Given the description of an element on the screen output the (x, y) to click on. 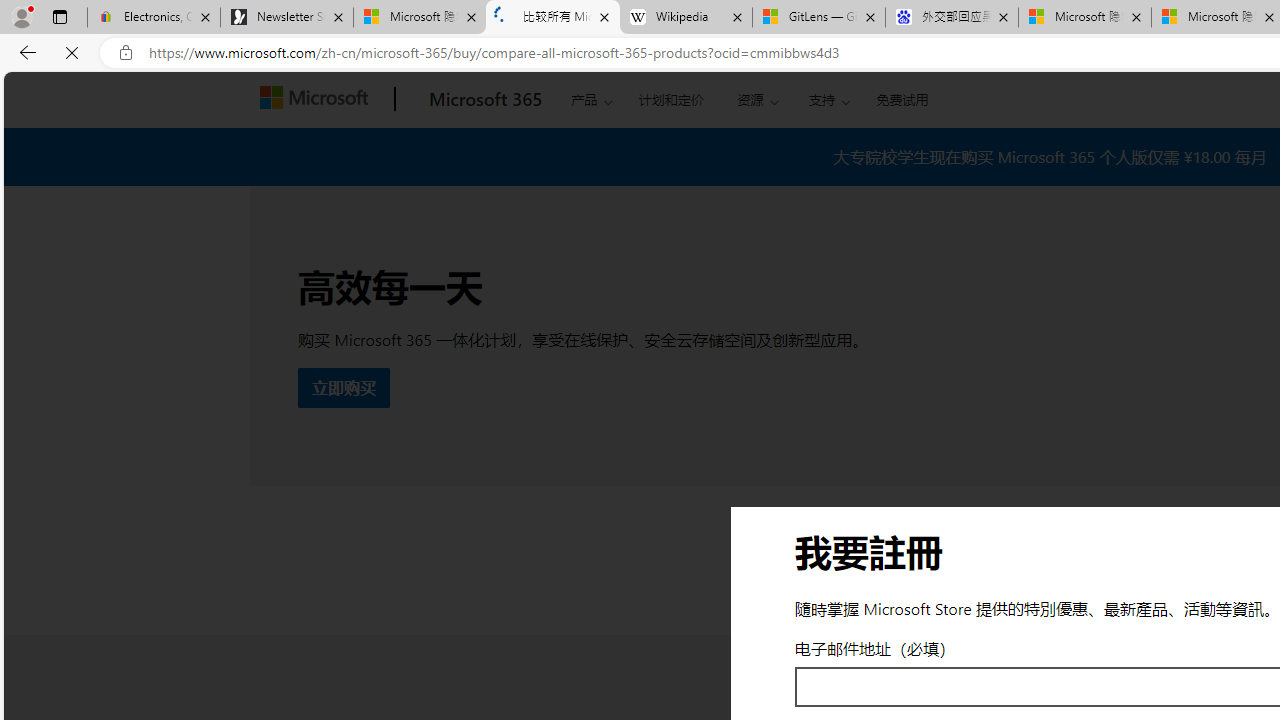
Newsletter Sign Up (287, 17)
Wikipedia (685, 17)
Electronics, Cars, Fashion, Collectibles & More | eBay (154, 17)
